Given the description of an element on the screen output the (x, y) to click on. 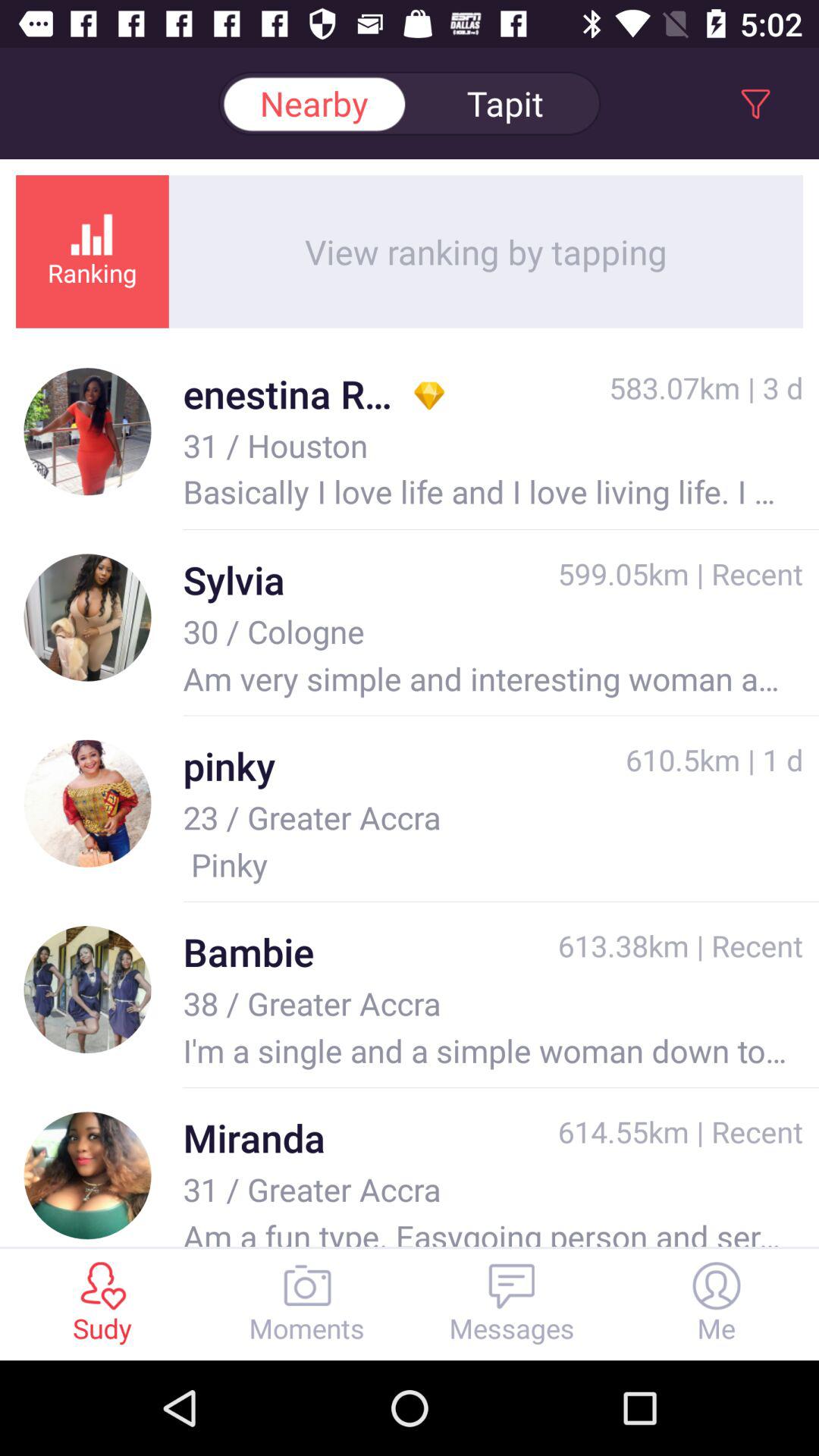
turn on icon next to the nearby icon (504, 103)
